Given the description of an element on the screen output the (x, y) to click on. 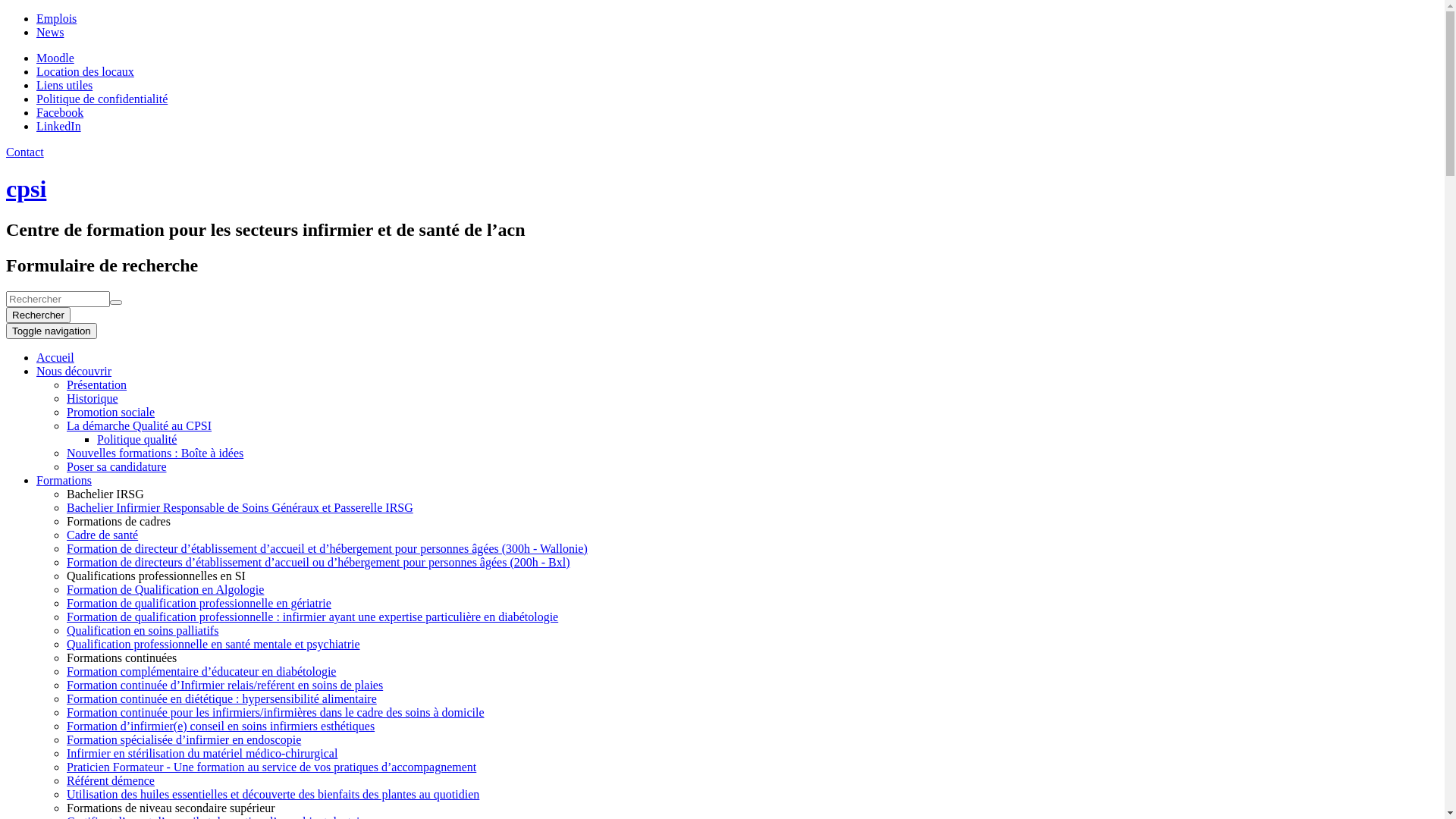
Rechercher Element type: text (38, 315)
Emplois Element type: text (56, 18)
Facebook Element type: text (59, 112)
Location des locaux Element type: text (85, 71)
Contact Element type: text (24, 151)
cpsi Element type: text (26, 188)
Qualification en soins palliatifs Element type: text (142, 630)
Moodle Element type: text (55, 57)
Historique Element type: text (92, 398)
Accueil Element type: text (55, 357)
Formations Element type: text (63, 479)
News Element type: text (49, 31)
Liens utiles Element type: text (64, 84)
LinkedIn Element type: text (58, 125)
Formation de Qualification en Algologie Element type: text (164, 589)
Promotion sociale Element type: text (110, 411)
Poser sa candidature Element type: text (116, 466)
Toggle navigation Element type: text (51, 330)
